Given the description of an element on the screen output the (x, y) to click on. 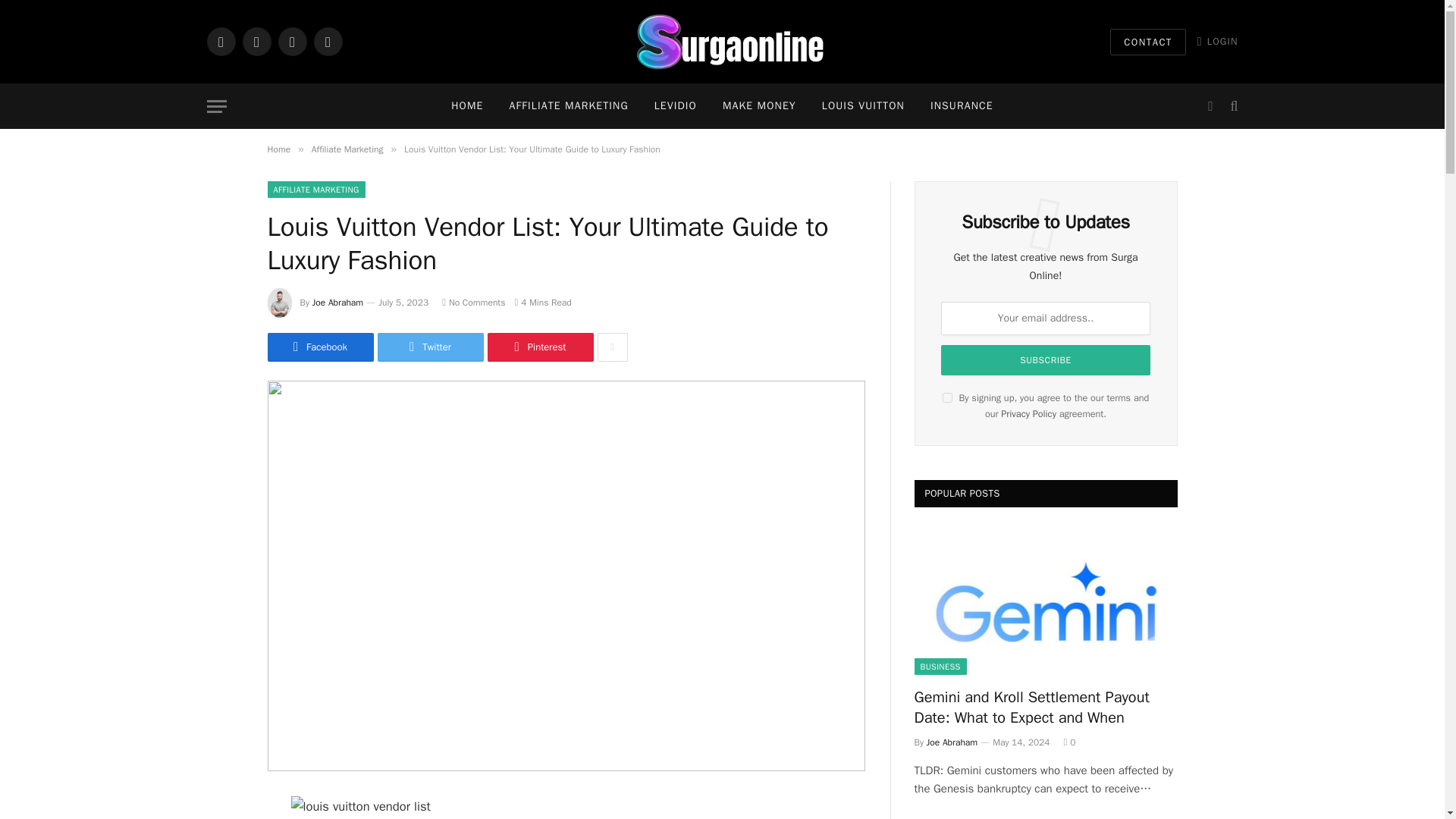
Share on Pinterest (539, 346)
AFFILIATE MARKETING (568, 105)
Subscribe (1045, 359)
Share on Facebook (319, 346)
Posts by Joe Abraham (338, 302)
CONTACT (1147, 41)
HOME (467, 105)
LOUIS VUITTON (863, 105)
Facebook (220, 41)
on (947, 397)
Vimeo (328, 41)
Instagram (291, 41)
LOGIN (1217, 41)
Switch to Dark Design - easier on eyes. (1209, 106)
MAKE MONEY (759, 105)
